Given the description of an element on the screen output the (x, y) to click on. 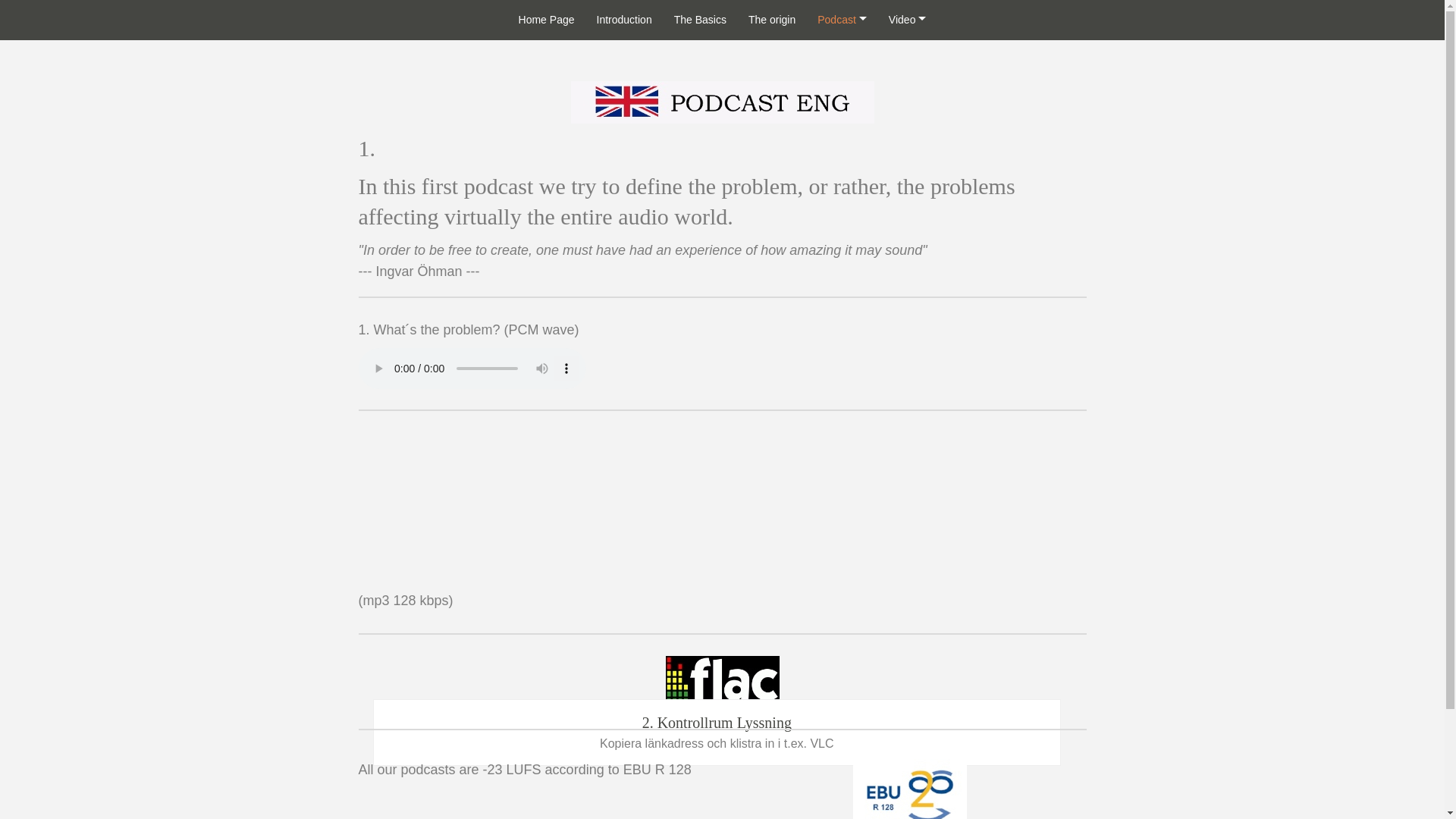
Home Page (546, 19)
2. Kontrollrum Lyssning (722, 683)
Introduction (624, 19)
2. Kontrollrum Lyssning (721, 683)
The Basics (700, 19)
The origin (772, 19)
